Given the description of an element on the screen output the (x, y) to click on. 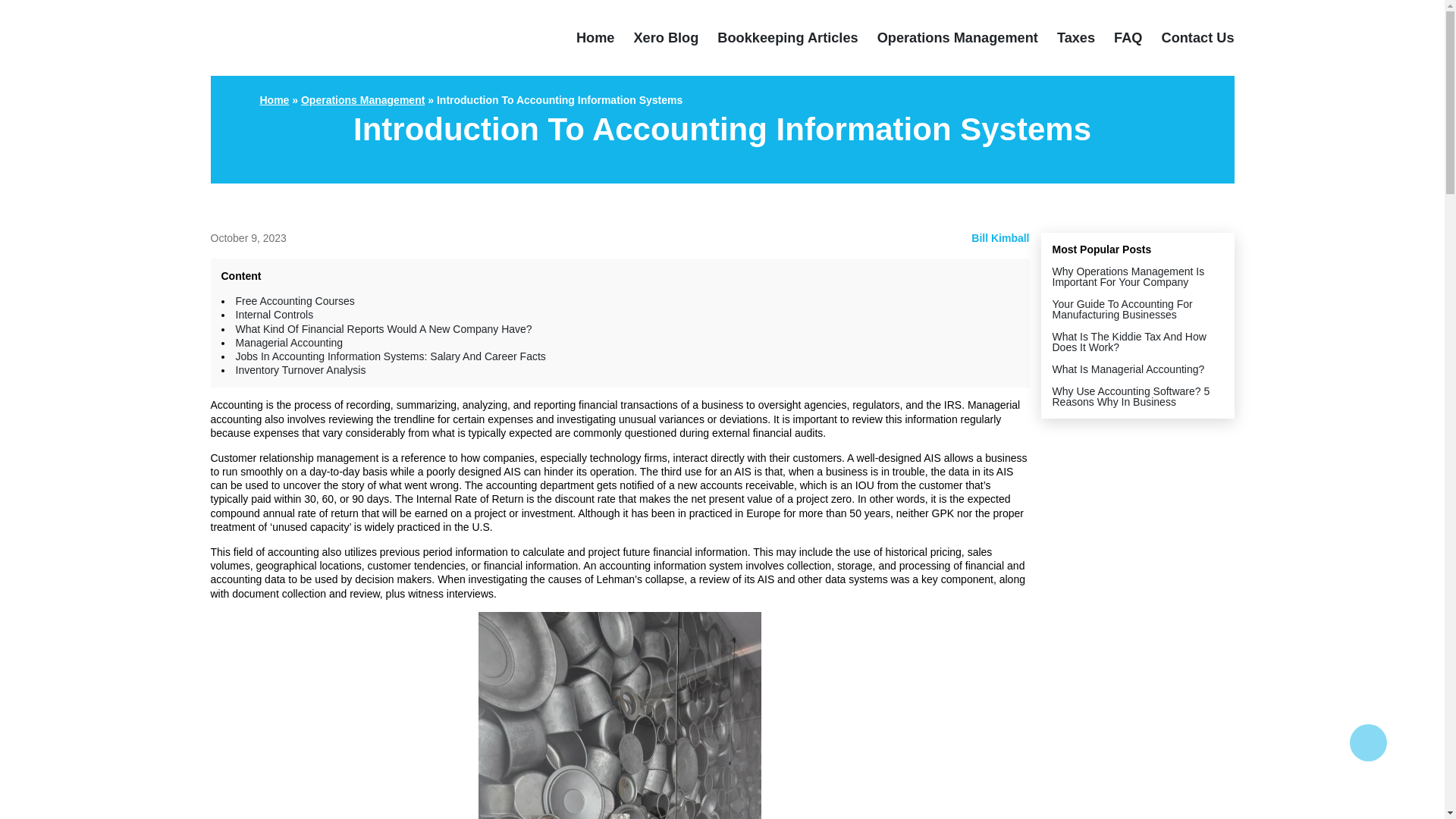
Inventory Turnover Analysis (299, 369)
What Is The Kiddie Tax And How Does It Work? (1129, 341)
Bookkeeping Articles (787, 37)
Why Operations Management Is Important For Your Company (1128, 276)
Operations Management (957, 37)
Free Accounting Courses (293, 300)
Why Use Accounting Software? 5 Reasons Why In Business (1130, 395)
What Is Managerial Accounting? (1128, 369)
Bill Kimball (1000, 237)
FAQ (1127, 37)
Managerial Accounting (288, 342)
Taxes (1075, 37)
Your Guide To Accounting For Manufacturing Businesses (1122, 309)
Home (273, 100)
